Given the description of an element on the screen output the (x, y) to click on. 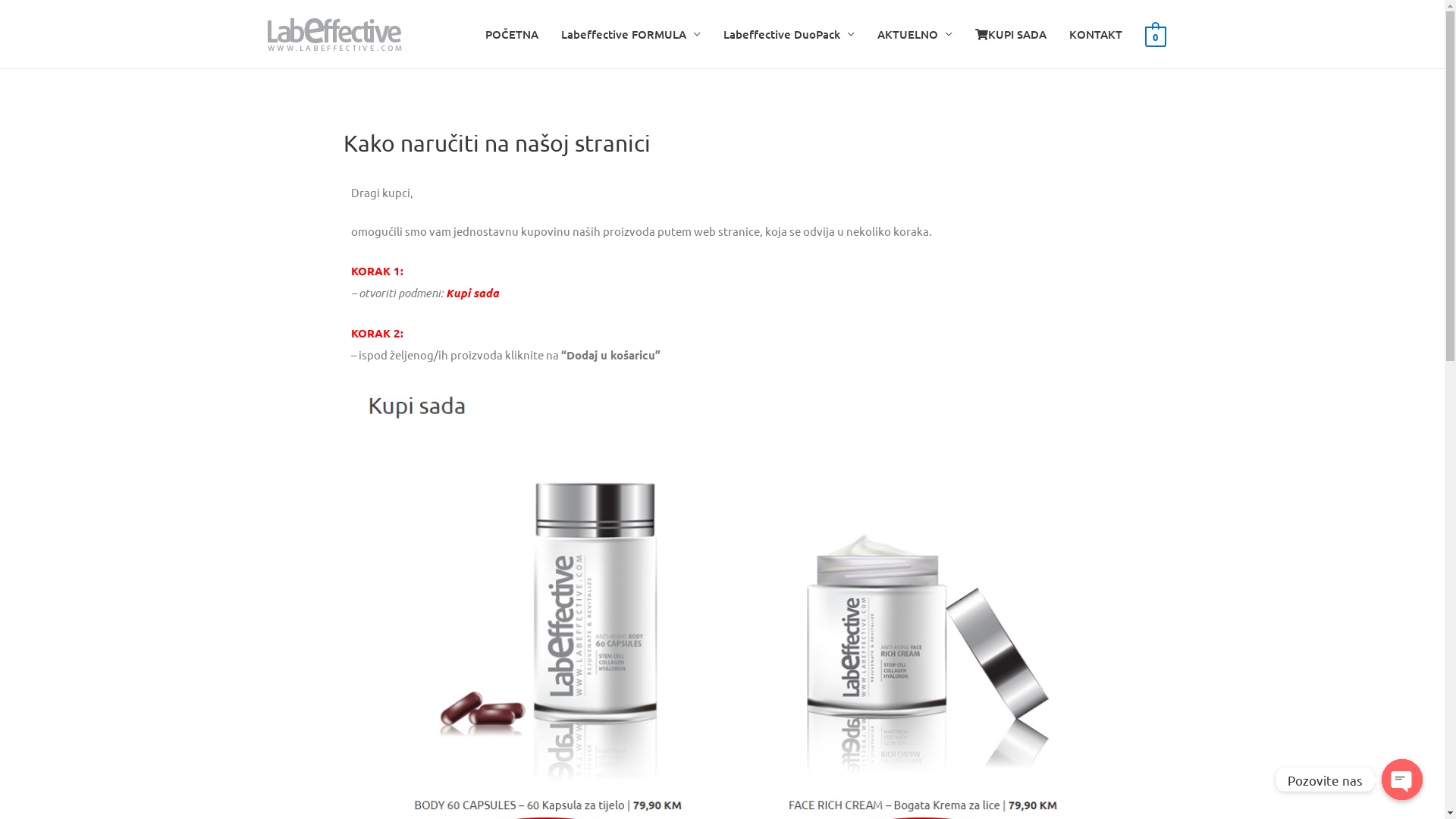
KONTAKT Element type: text (1095, 33)
KUPI SADA Element type: text (1010, 33)
Kupi sada Element type: text (471, 292)
Labeffective DuoPack Element type: text (789, 33)
AKTUELNO Element type: text (914, 33)
0 Element type: text (1155, 34)
Labeffective FORMULA Element type: text (630, 33)
